Given the description of an element on the screen output the (x, y) to click on. 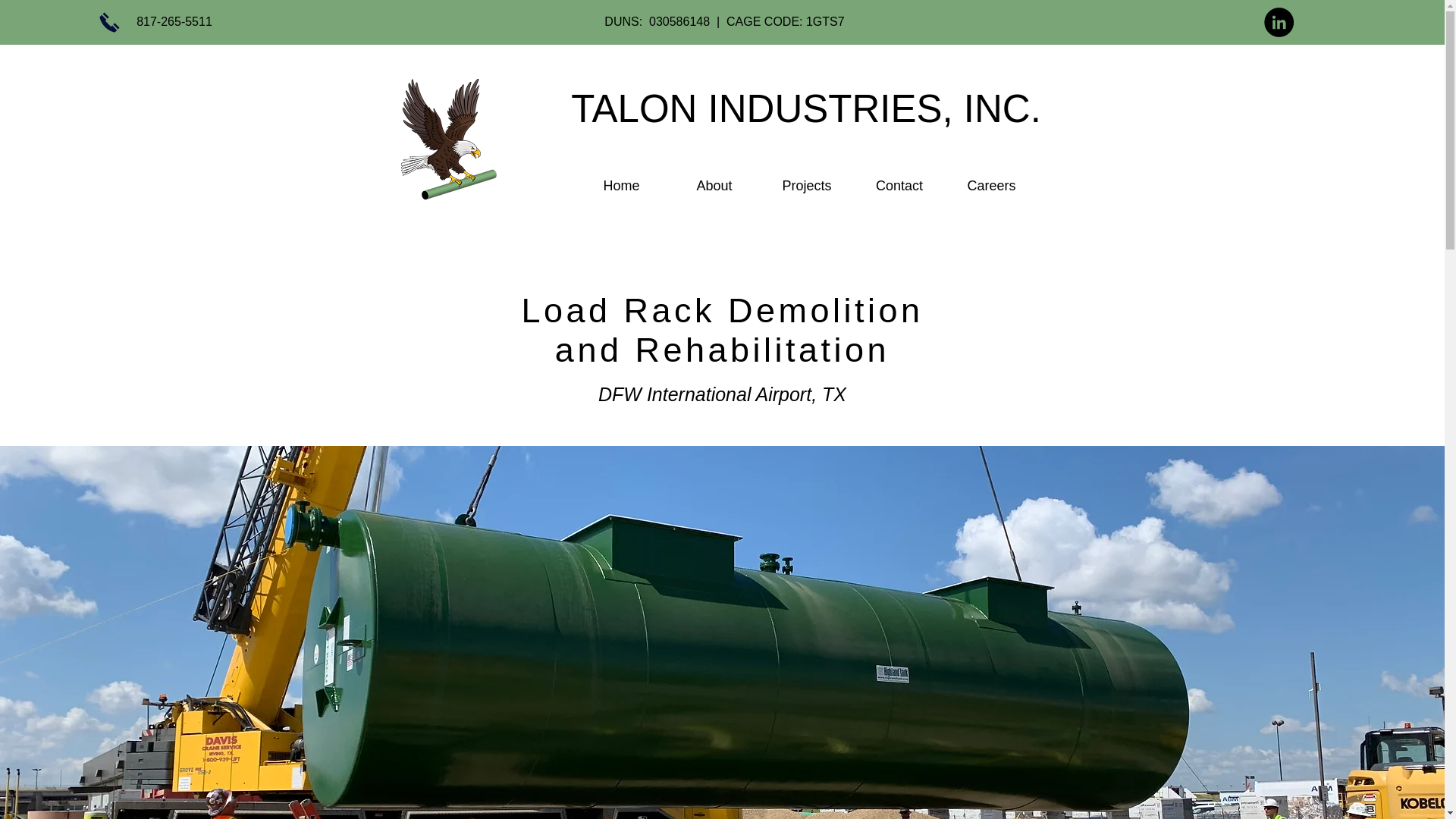
Projects (805, 185)
Careers (990, 185)
Home (620, 185)
About (713, 185)
Contact (897, 185)
